Given the description of an element on the screen output the (x, y) to click on. 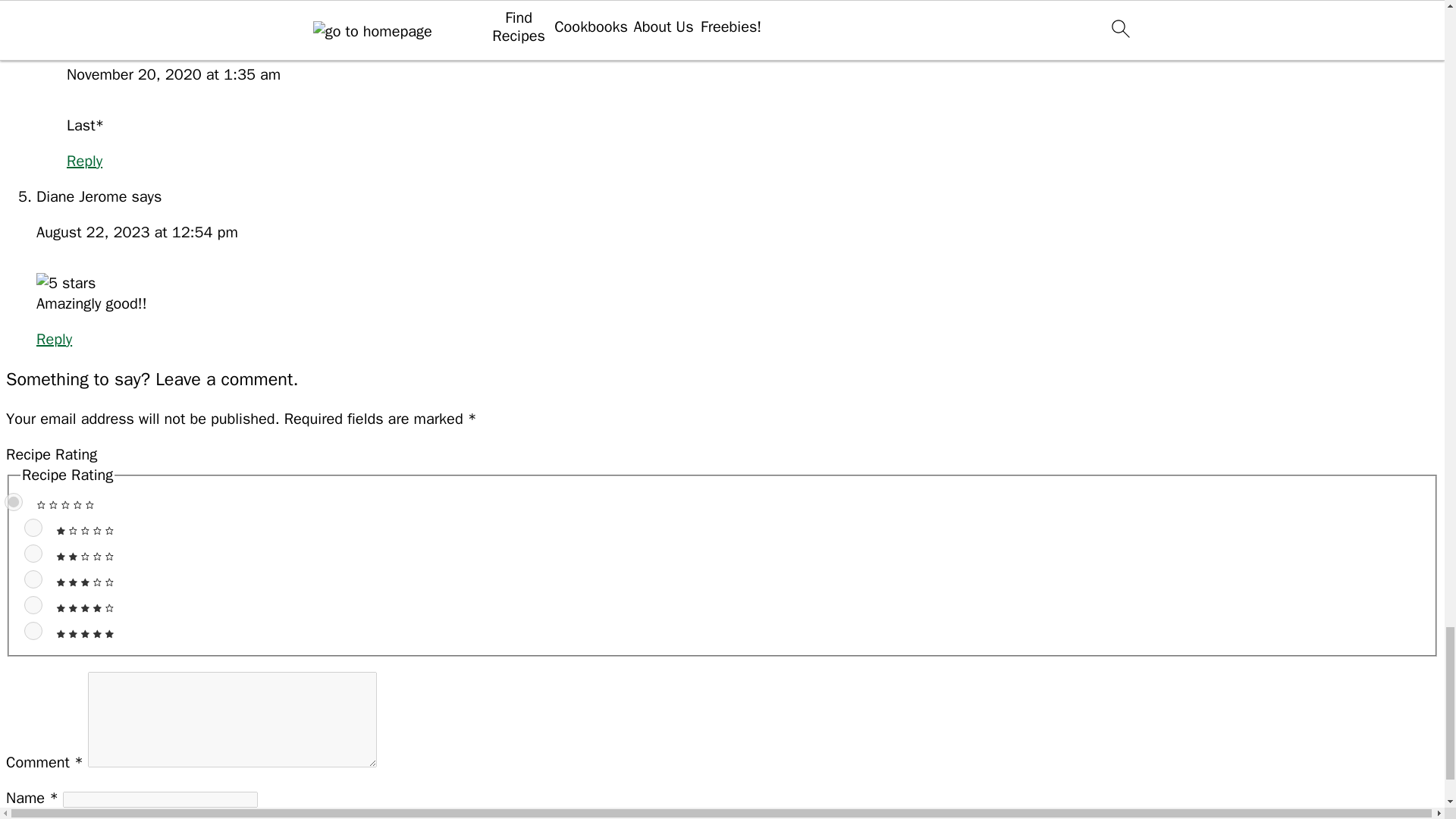
3 (33, 579)
5 (33, 630)
0 (13, 502)
4 (33, 605)
2 (33, 553)
1 (33, 527)
